Given the description of an element on the screen output the (x, y) to click on. 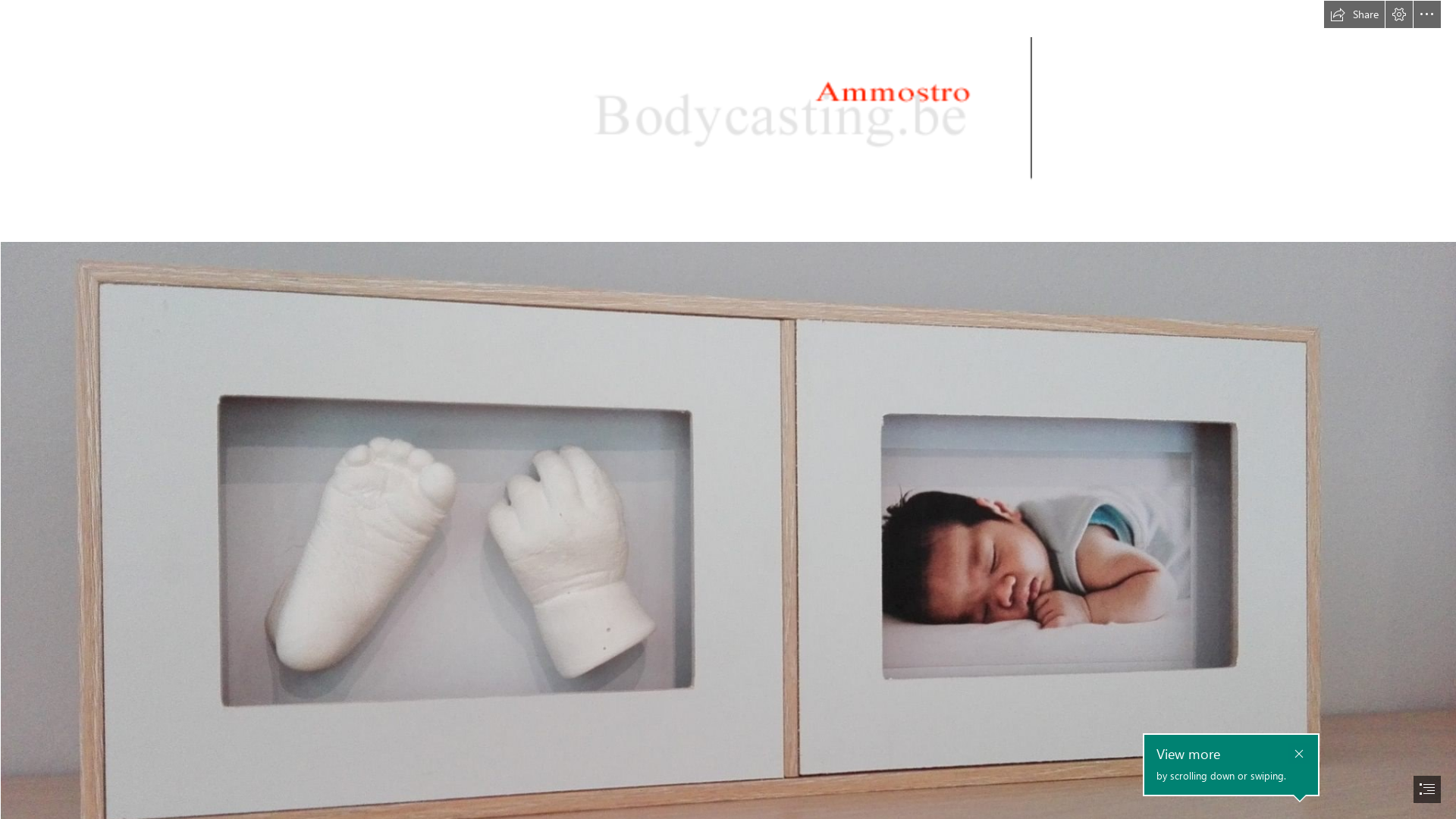
Discover more available options Element type: hover (1426, 14)
Navigate to different sections in this Sway Element type: hover (1426, 789)
Change the settings of this Sway Element type: hover (1398, 14)
Share Element type: text (1354, 14)
